Given the description of an element on the screen output the (x, y) to click on. 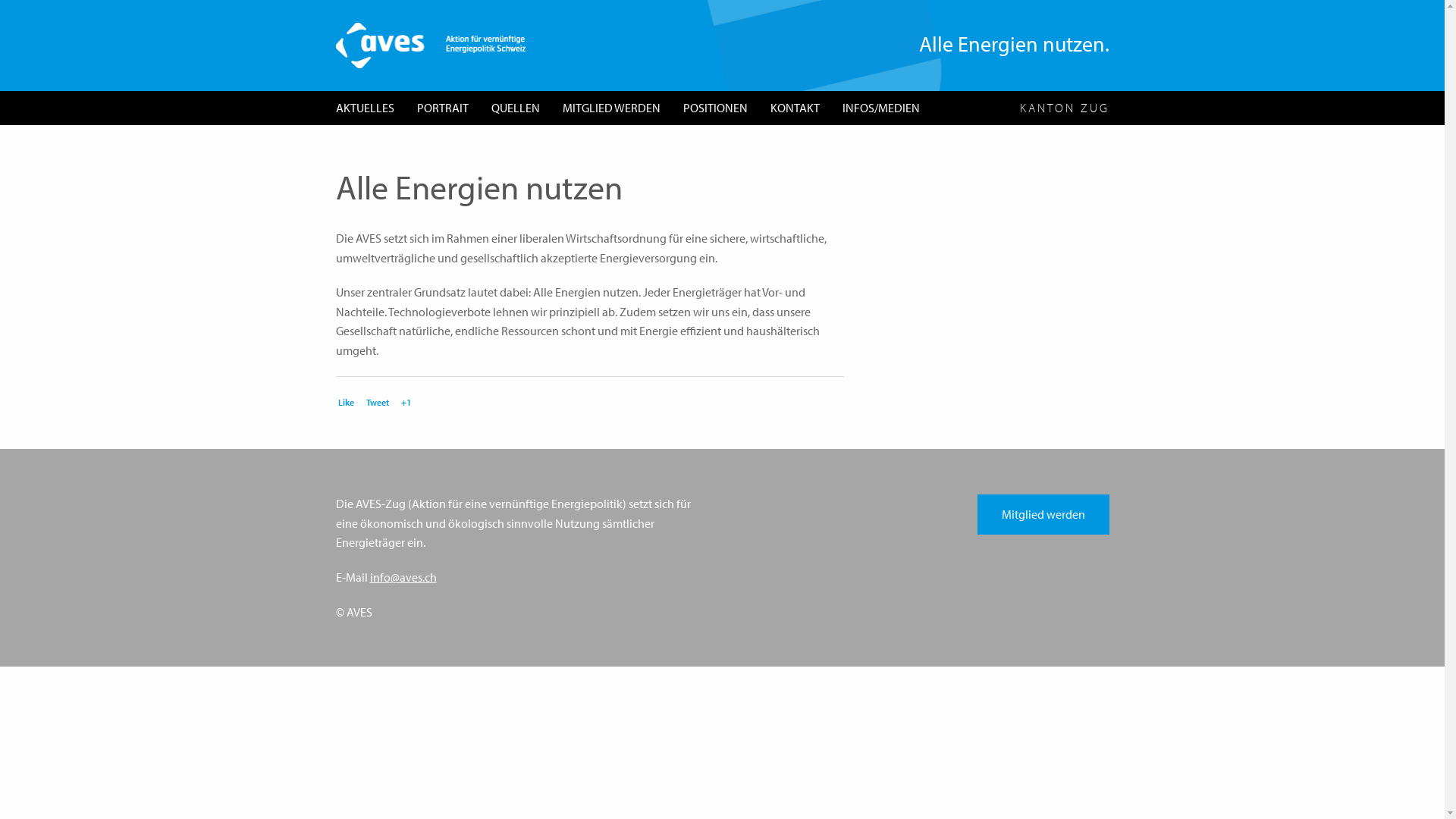
MITGLIED WERDEN Element type: text (610, 108)
Mitglied werden Element type: text (1042, 514)
AKTUELLES Element type: text (364, 108)
PORTRAIT Element type: text (441, 108)
AVES Element type: hover (429, 43)
Like Element type: text (344, 400)
POSITIONEN Element type: text (715, 108)
INFOS/MEDIEN Element type: text (881, 108)
QUELLEN Element type: text (514, 108)
info@aves.ch Element type: text (403, 576)
Tweet Element type: text (376, 400)
KONTAKT Element type: text (794, 108)
+1 Element type: text (404, 400)
